Given the description of an element on the screen output the (x, y) to click on. 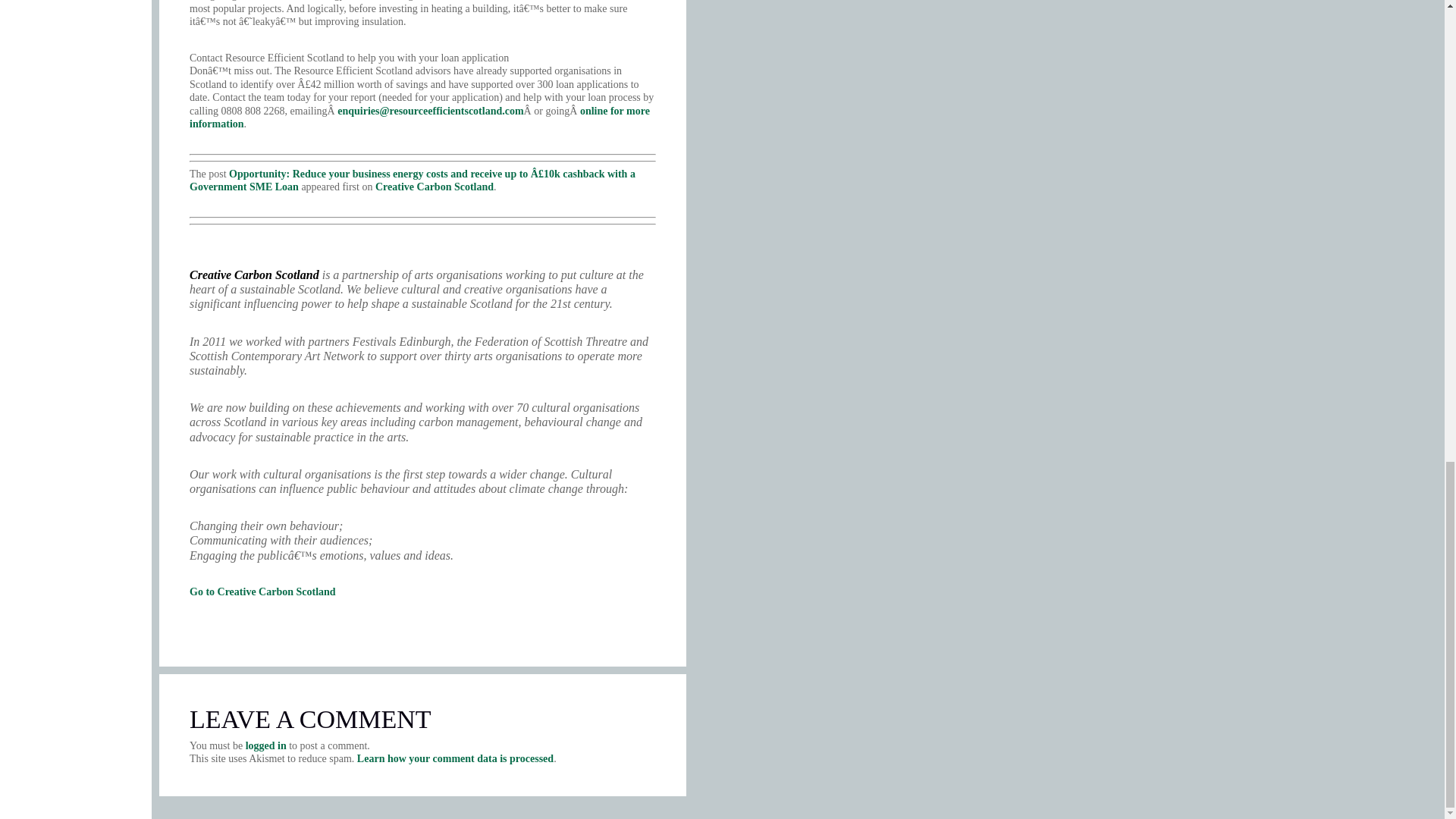
Creative Carbon Scotland (434, 186)
online for more information (419, 117)
Go to Creative Carbon Scotland (262, 591)
